Given the description of an element on the screen output the (x, y) to click on. 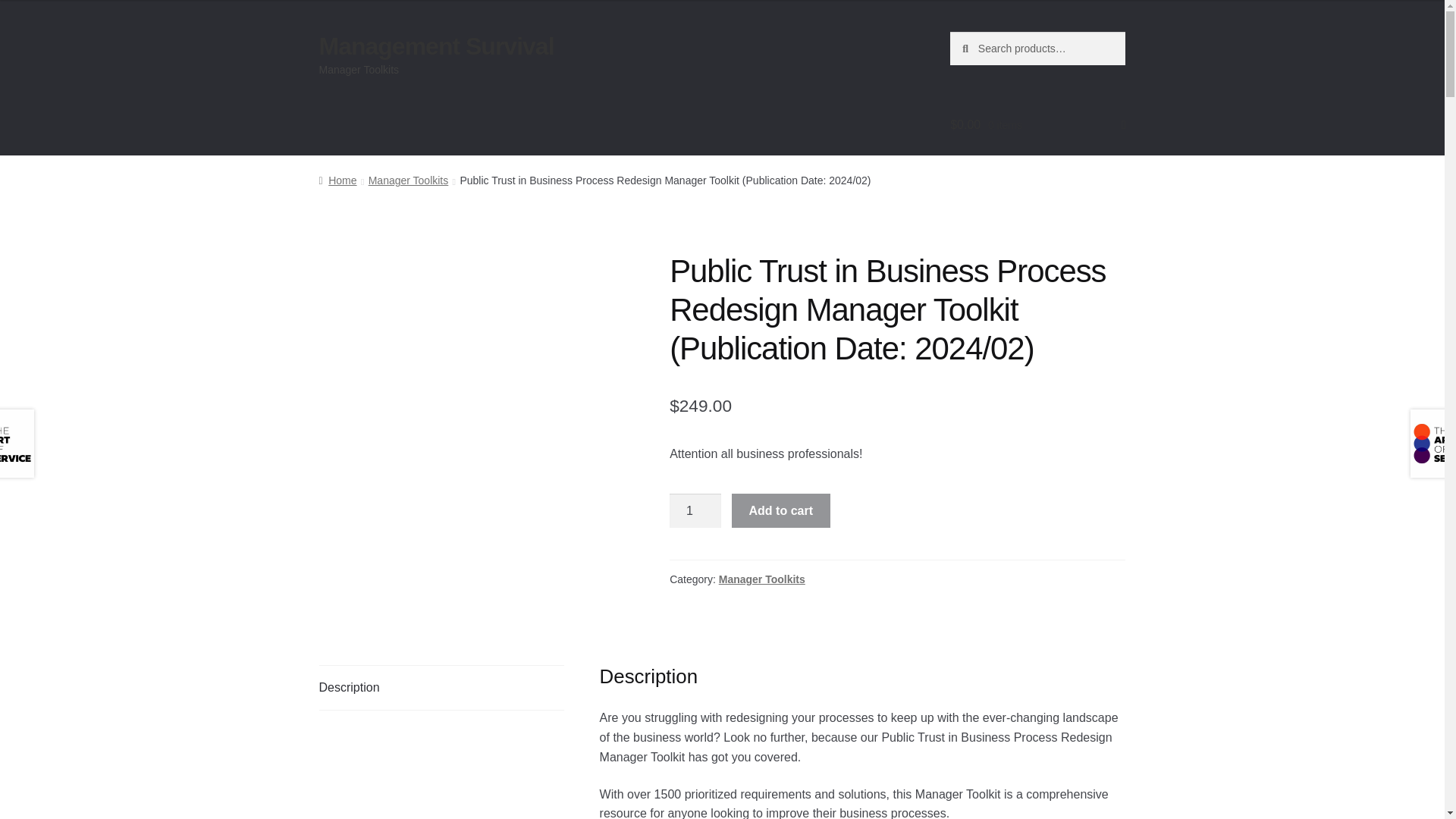
View your shopping cart (1037, 124)
Add to cart (780, 510)
Manager Toolkits (408, 180)
Management Survival (436, 45)
Manager Toolkits (762, 579)
Description (441, 687)
1 (694, 510)
Home (337, 180)
